Given the description of an element on the screen output the (x, y) to click on. 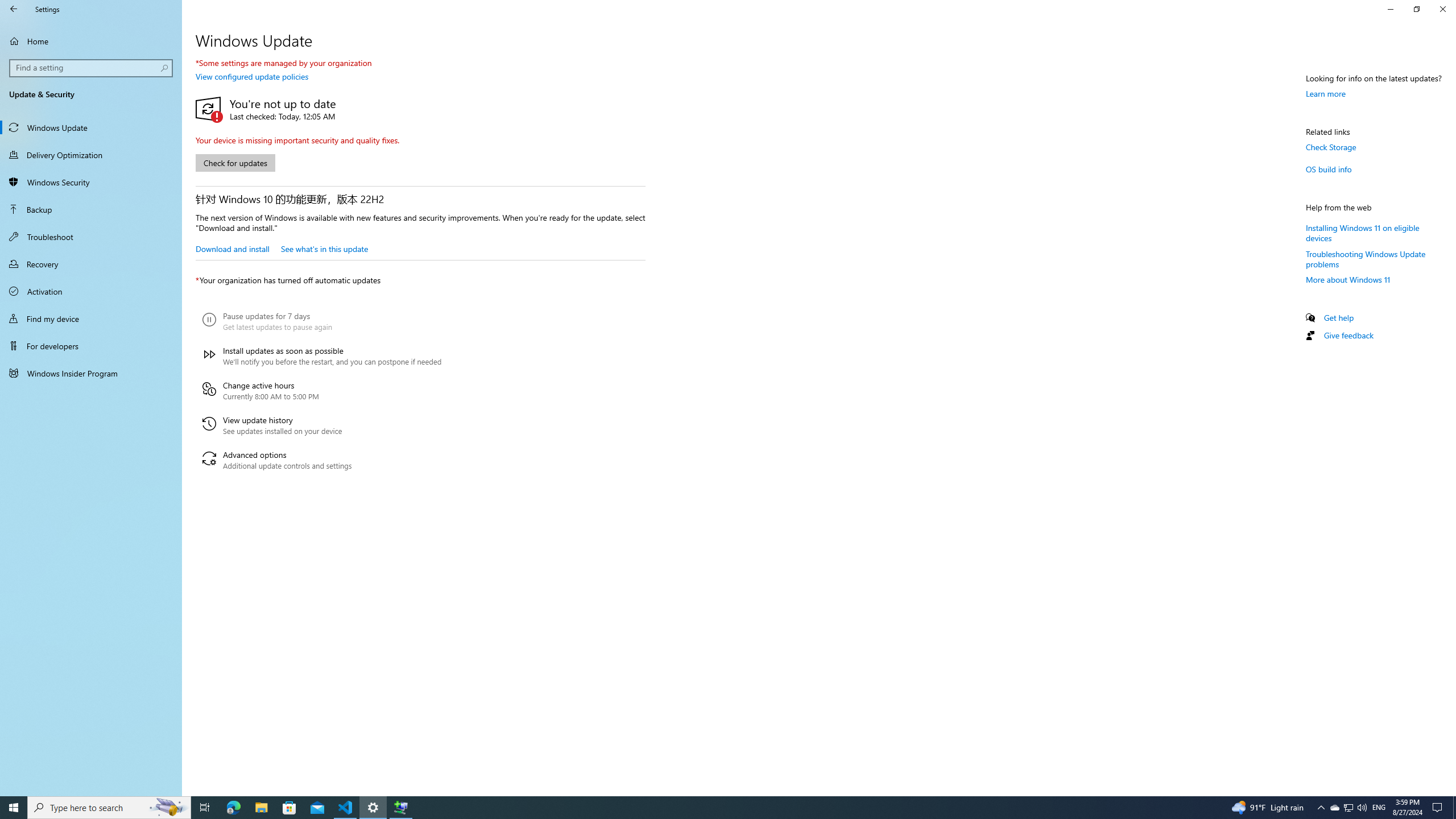
View update history (321, 425)
More about Windows 11 (1348, 279)
View configured update policies (251, 76)
Download and install (232, 248)
Back (13, 9)
Windows Insider Program (91, 372)
Restore Settings (1416, 9)
Troubleshoot (91, 236)
Delivery Optimization (91, 154)
Advanced options (321, 460)
Minimize Settings (1390, 9)
Find my device (91, 318)
